Given the description of an element on the screen output the (x, y) to click on. 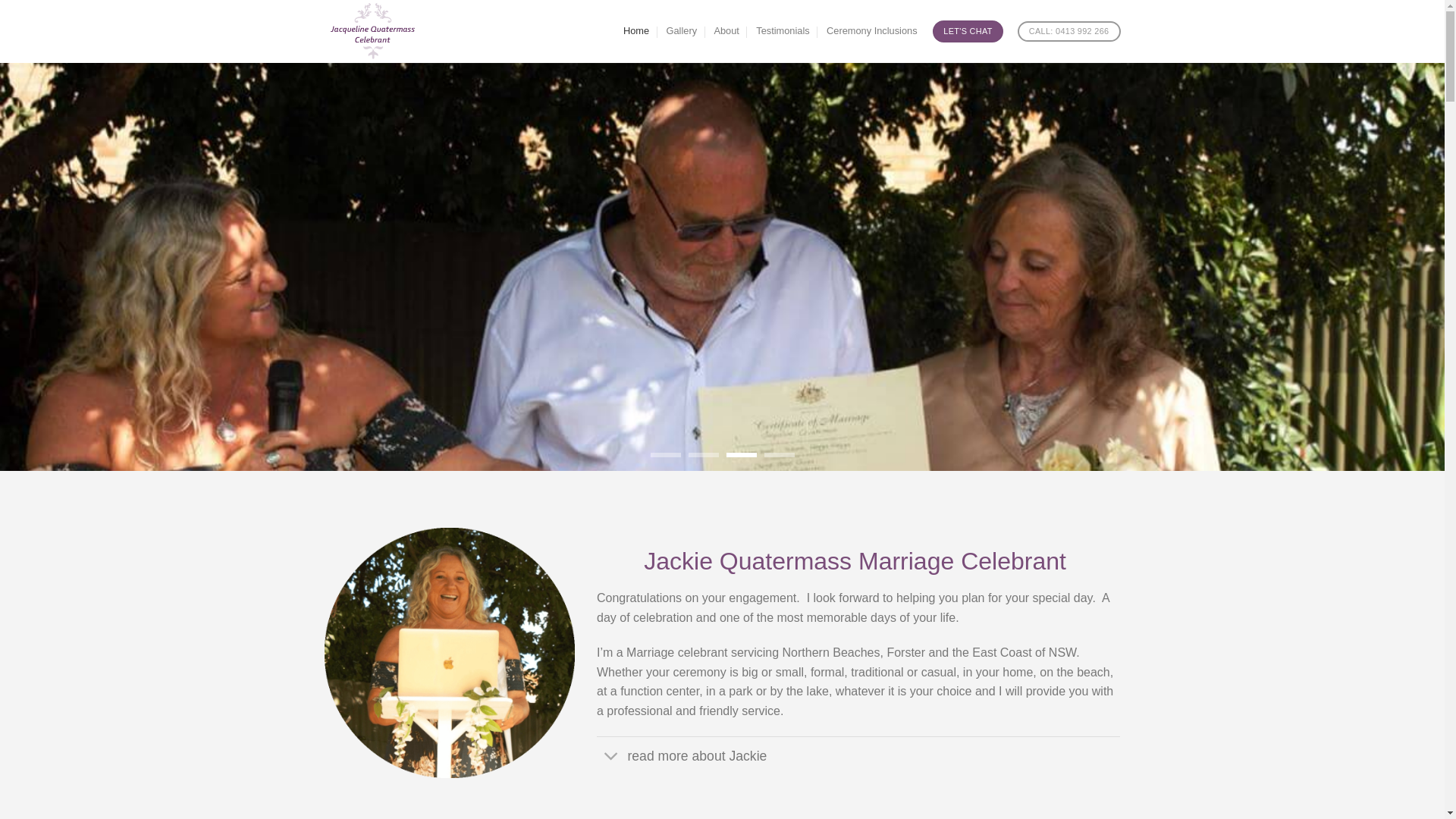
read more about Jackie Element type: text (858, 755)
Home Element type: text (636, 30)
CALL: 0413 992 266 Element type: text (1068, 31)
Jacqueline Quatermass Celebrant - Marriage Celebrant Sydney Element type: hover (391, 31)
About Element type: text (725, 30)
LET'S CHAT Element type: text (967, 30)
Gallery Element type: text (681, 30)
Testimonials Element type: text (782, 30)
Skip to content Element type: text (0, 0)
Ceremony Inclusions Element type: text (871, 30)
